Given the description of an element on the screen output the (x, y) to click on. 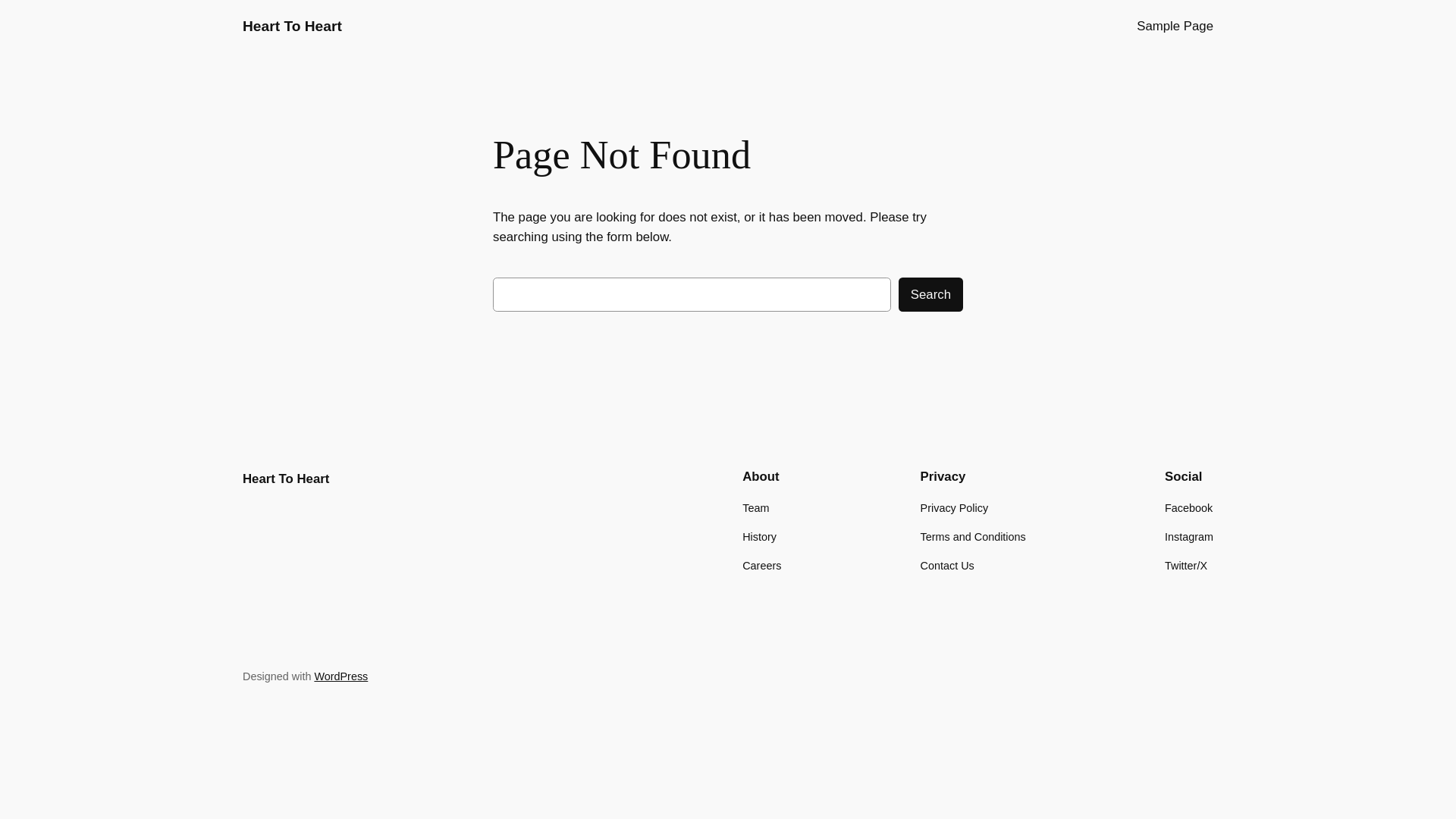
WordPress Element type: text (340, 676)
History Element type: text (759, 536)
Careers Element type: text (761, 565)
Team Element type: text (755, 507)
Terms and Conditions Element type: text (973, 536)
Privacy Policy Element type: text (954, 507)
Facebook Element type: text (1188, 507)
Heart To Heart Element type: text (285, 478)
Heart To Heart Element type: text (292, 26)
Instagram Element type: text (1188, 536)
Twitter/X Element type: text (1185, 565)
Sample Page Element type: text (1174, 26)
Contact Us Element type: text (947, 565)
Search Element type: text (930, 294)
